Given the description of an element on the screen output the (x, y) to click on. 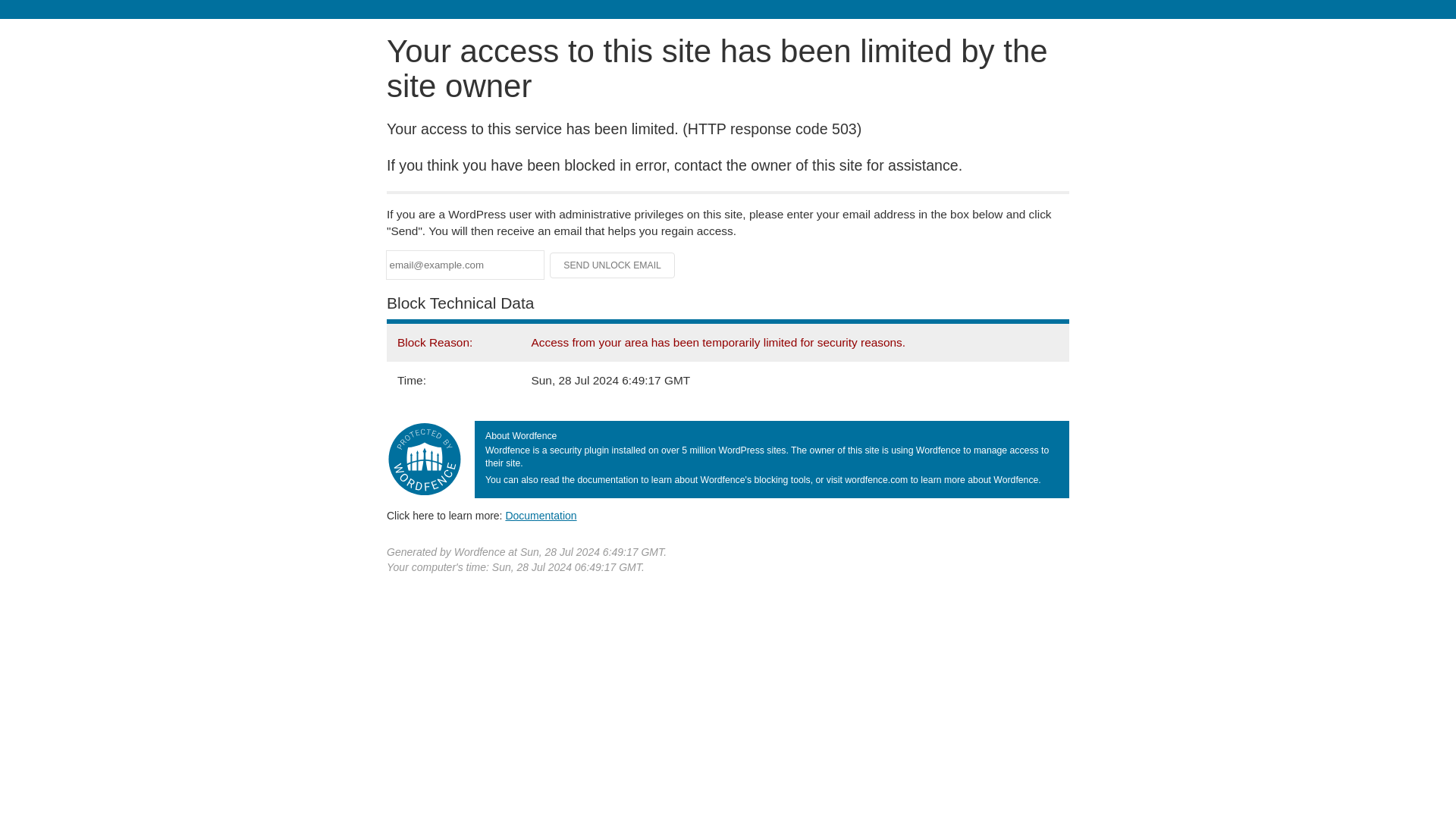
Documentation (540, 515)
Send Unlock Email (612, 265)
Send Unlock Email (612, 265)
